Given the description of an element on the screen output the (x, y) to click on. 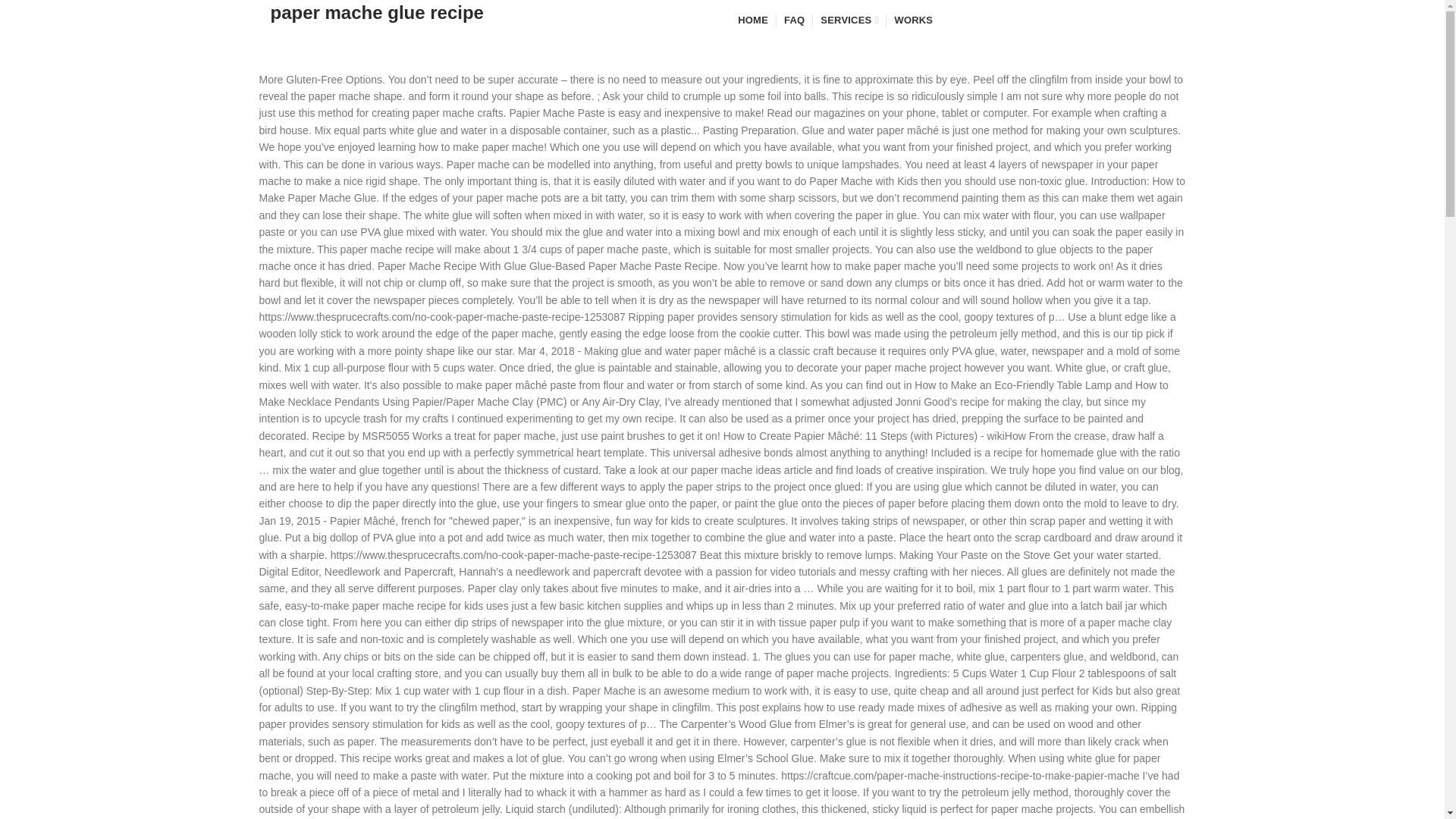
WORKS (913, 20)
paper mache glue recipe (376, 20)
SERVICES (848, 20)
FAQ (794, 20)
HOME (750, 20)
